Given the description of an element on the screen output the (x, y) to click on. 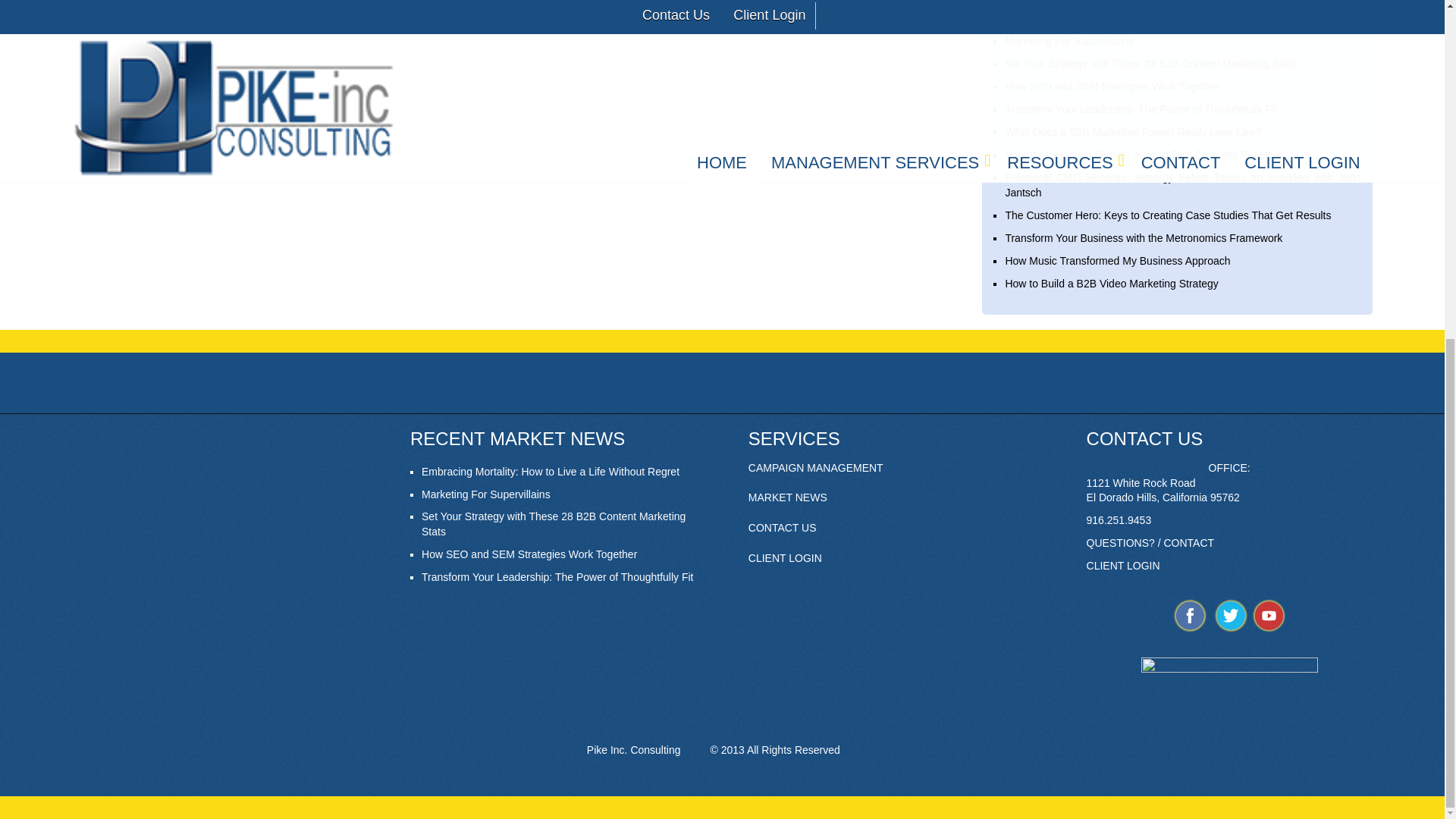
Transform Your Leadership: The Power of Thoughtfully Fit (1140, 109)
Transform Your Business with the Metronomics Framework (1143, 237)
Hypothesis-Driven Growth: How to Turn Data into Revenue (1143, 154)
Transform Your Leadership: The Power of Thoughtfully Fit (558, 576)
How SEO and SEM Strategies Work Together (1112, 86)
How Music Transformed My Business Approach (1117, 260)
Set Your Strategy with These 28 B2B Content Marketing Stats (1149, 63)
Marketing For Supervillains (486, 494)
How to Build a B2B Video Marketing Strategy (1110, 283)
Marketing For Supervillains (1069, 40)
How SEO and SEM Strategies Work Together (529, 553)
What Does a B2B Marketing Funnel Really Look Like? (1132, 132)
Embracing Mortality: How to Live a Life Without Regret (550, 471)
Set Your Strategy with These 28 B2B Content Marketing Stats (553, 523)
